Given the description of an element on the screen output the (x, y) to click on. 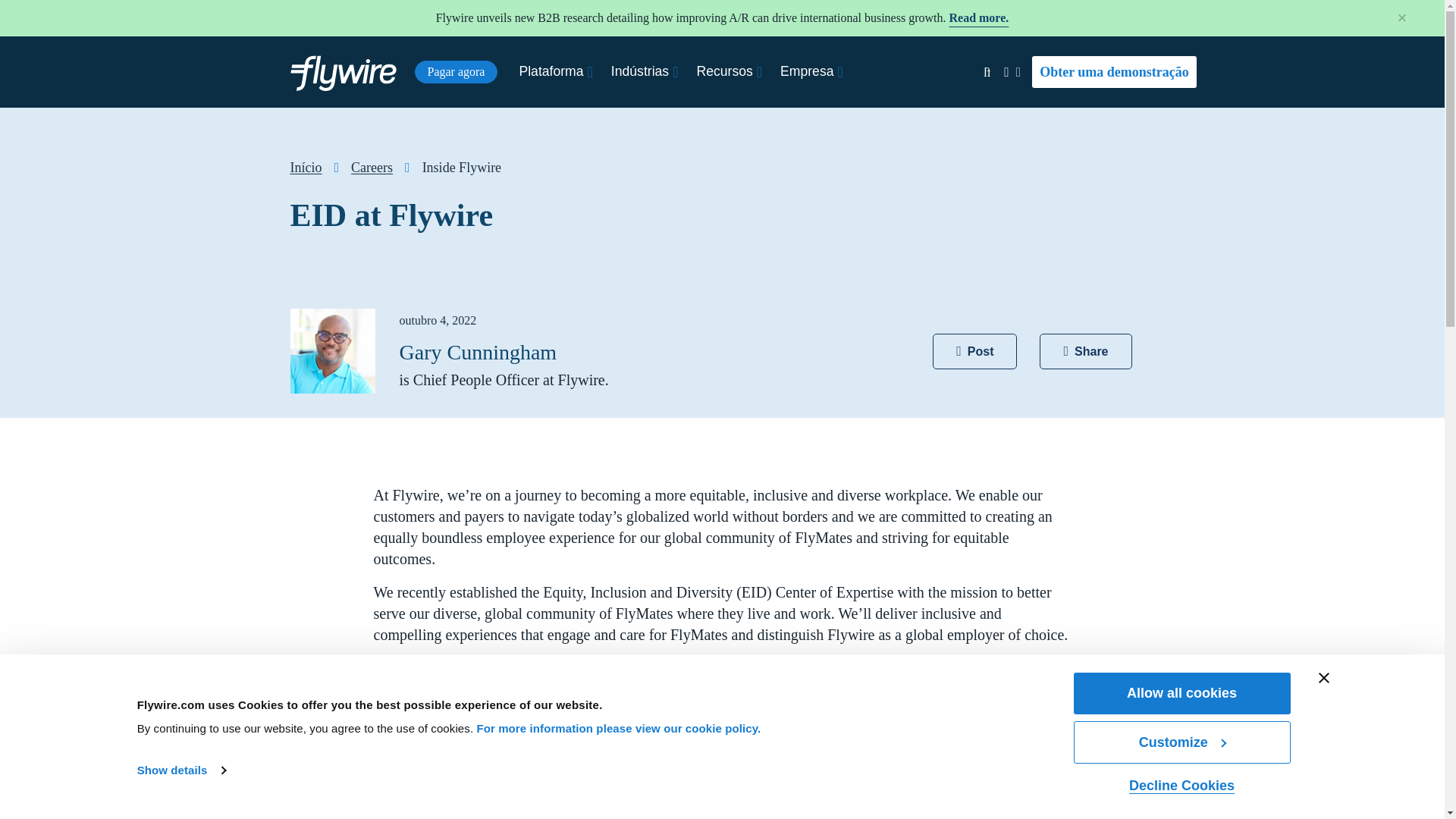
For more information please view our cookie policy. (618, 727)
Show details (180, 770)
